Given the description of an element on the screen output the (x, y) to click on. 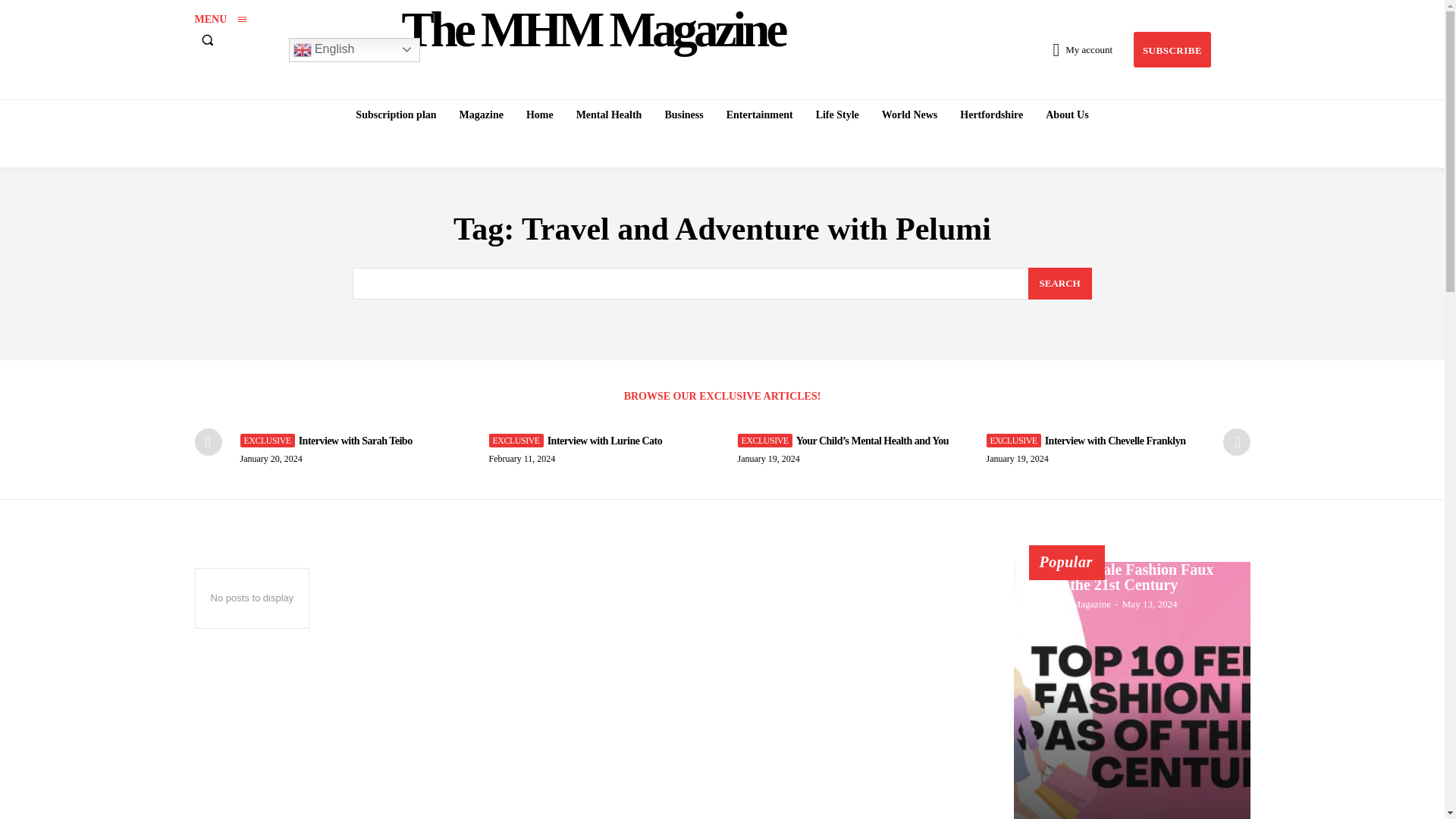
English (353, 49)
MENU (220, 19)
Menu (220, 19)
Subscribe (1172, 49)
